Given the description of an element on the screen output the (x, y) to click on. 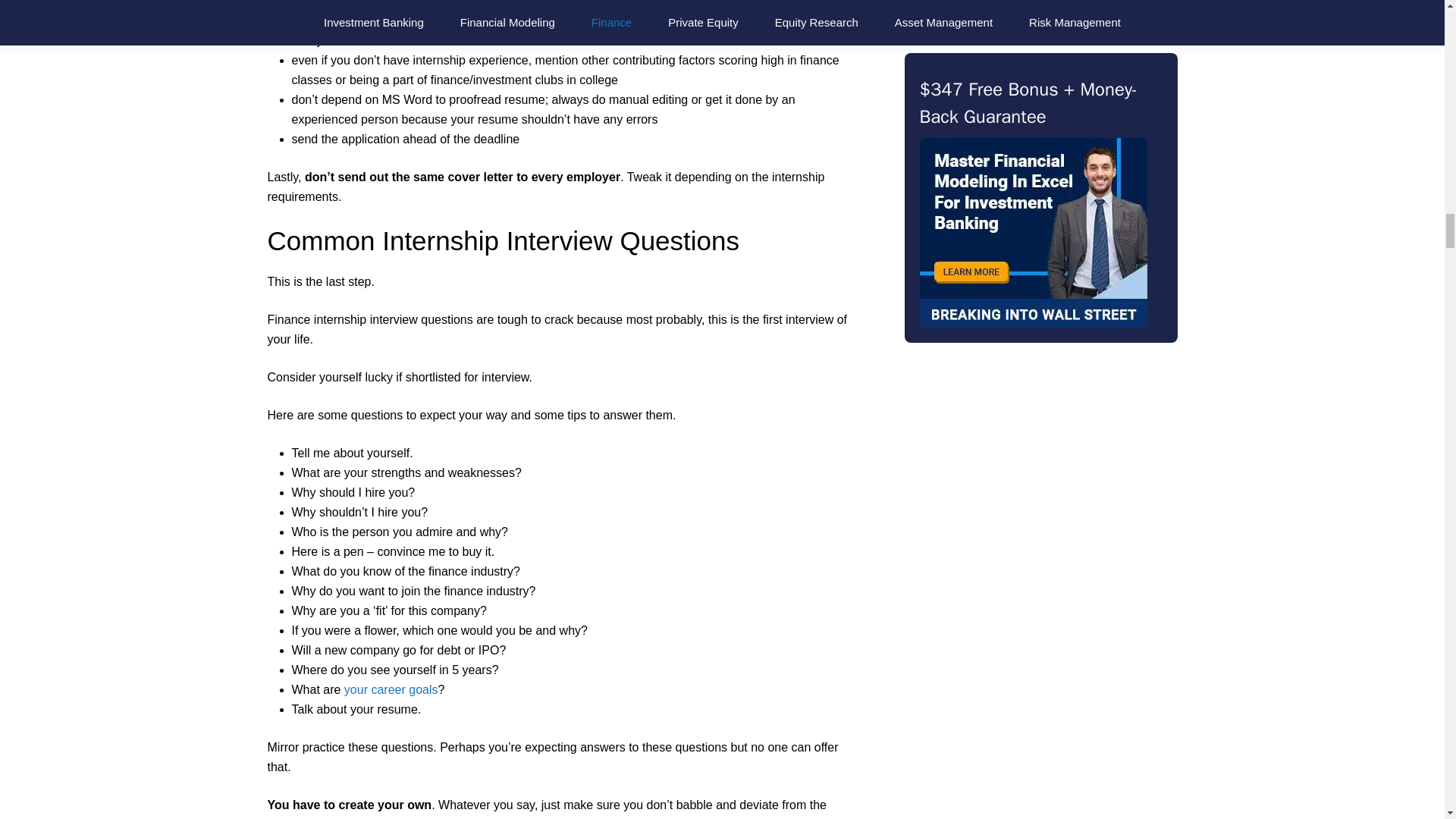
your career goals (390, 689)
